Given the description of an element on the screen output the (x, y) to click on. 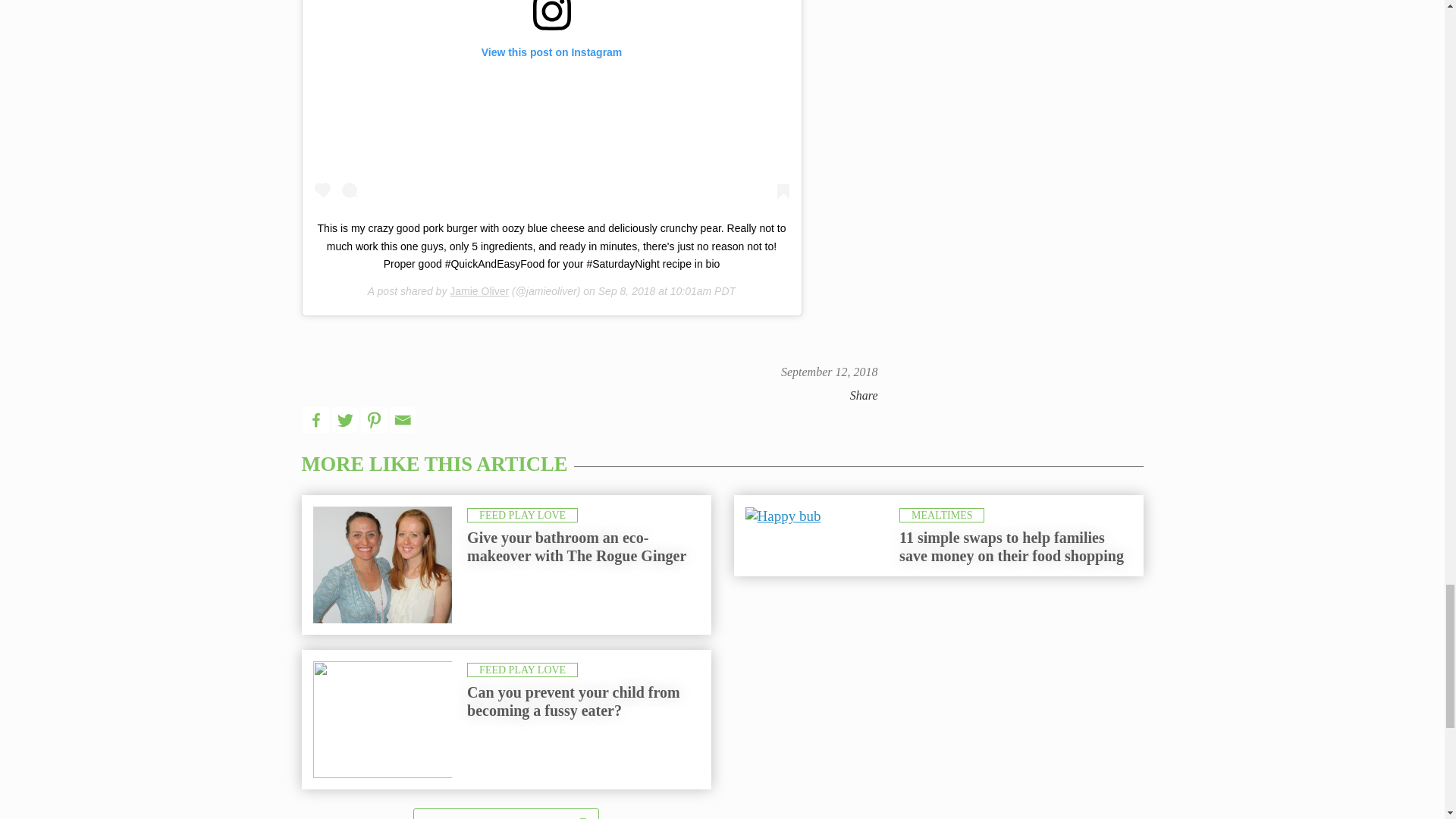
1:45 pm (828, 371)
